Given the description of an element on the screen output the (x, y) to click on. 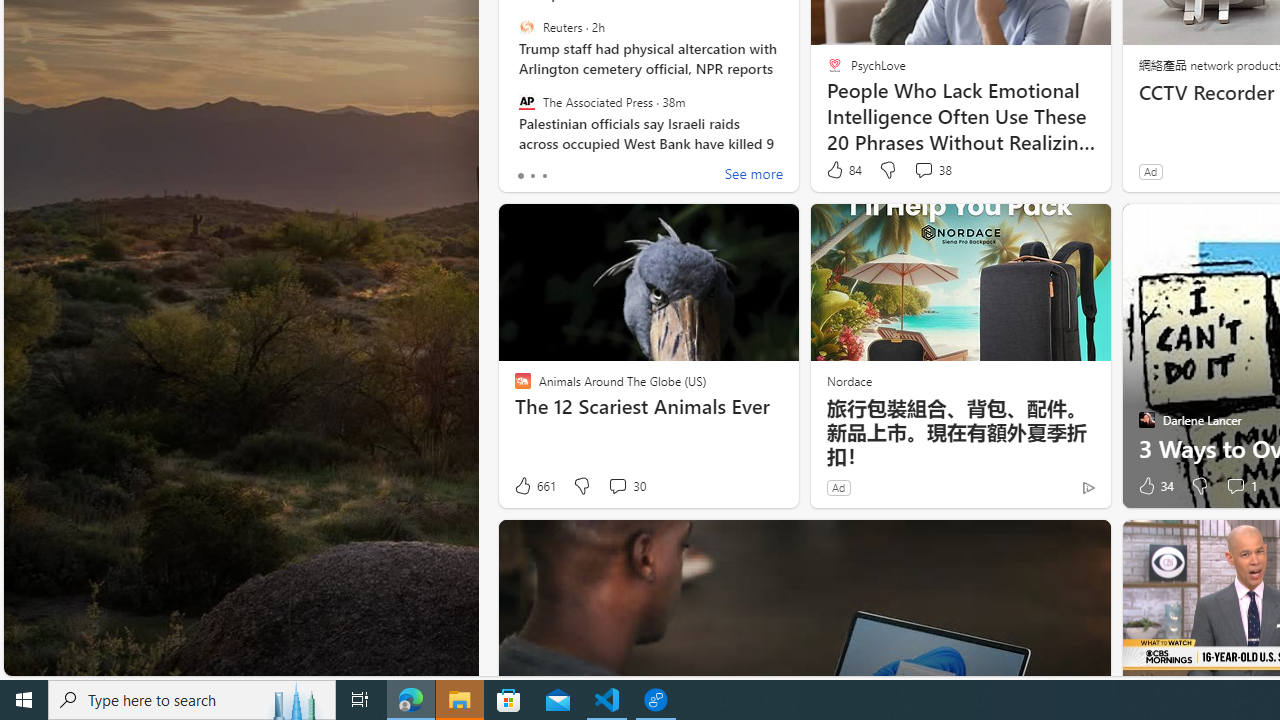
View comments 1 Comment (1240, 485)
The Associated Press (526, 101)
661 Like (534, 485)
View comments 38 Comment (932, 170)
View comments 30 Comment (617, 485)
Reuters (526, 27)
View comments 30 Comment (626, 485)
tab-1 (532, 175)
tab-2 (543, 175)
